Given the description of an element on the screen output the (x, y) to click on. 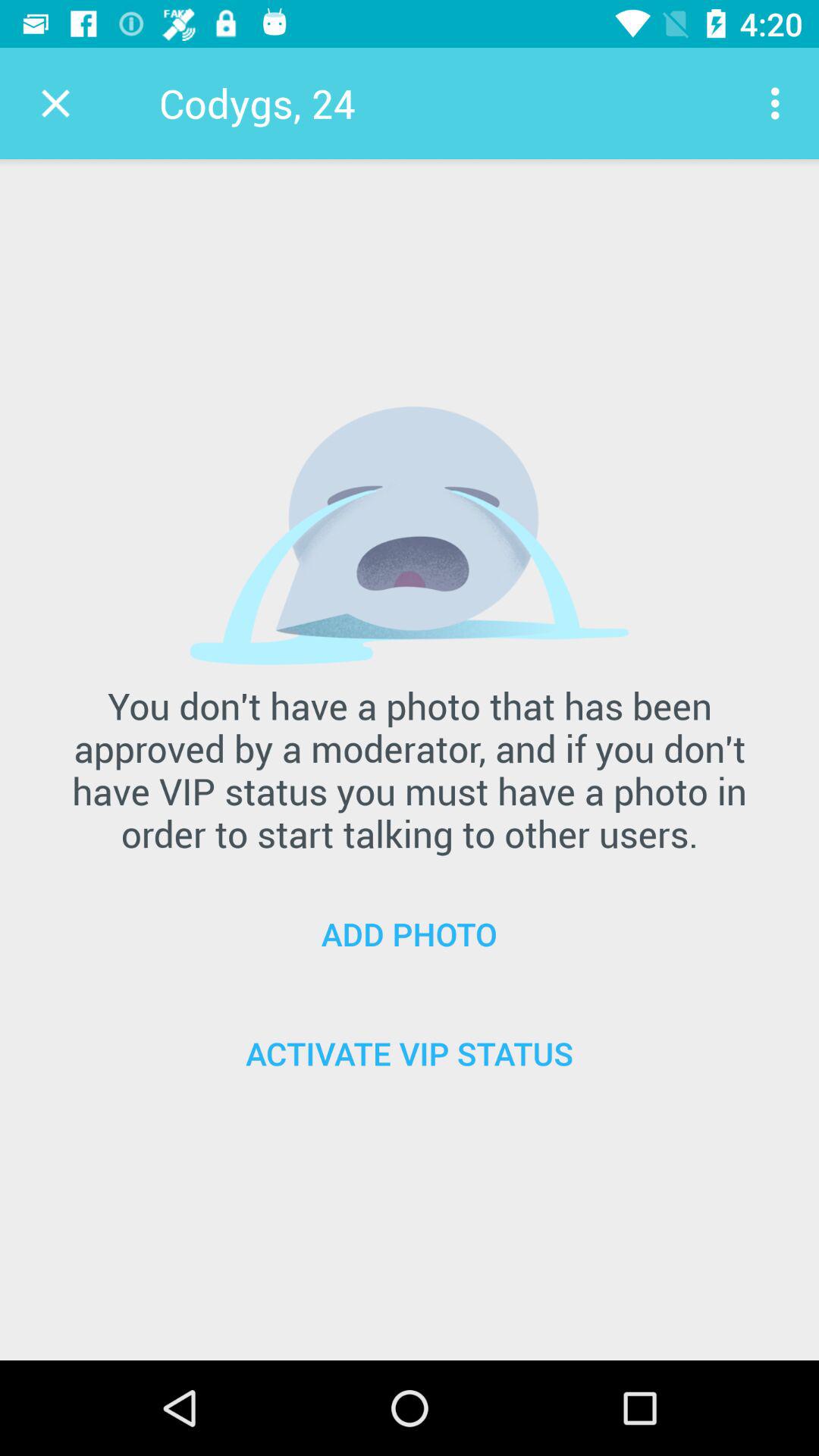
launch the add photo icon (409, 933)
